Given the description of an element on the screen output the (x, y) to click on. 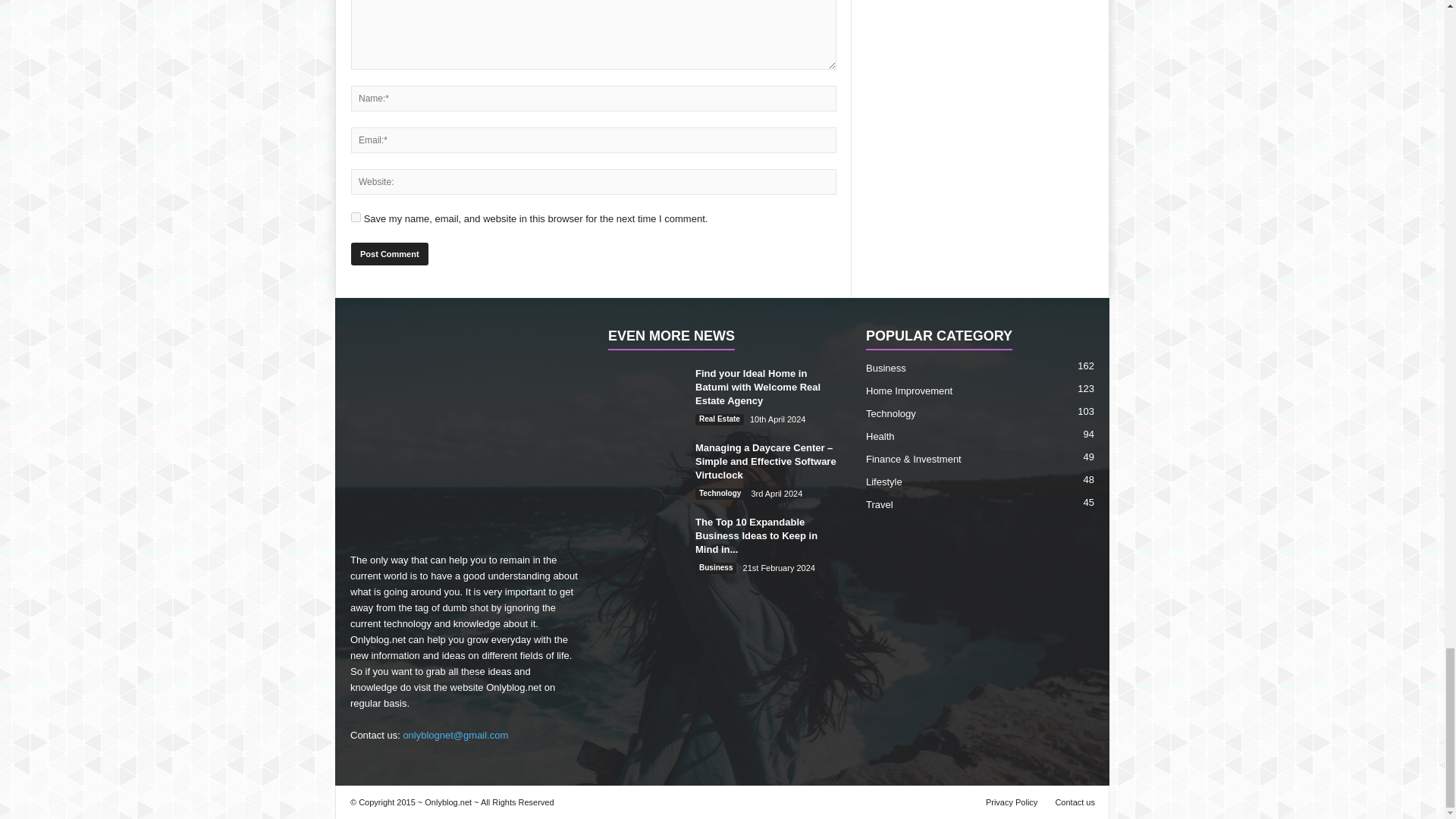
yes (355, 216)
Post Comment (389, 253)
